Given the description of an element on the screen output the (x, y) to click on. 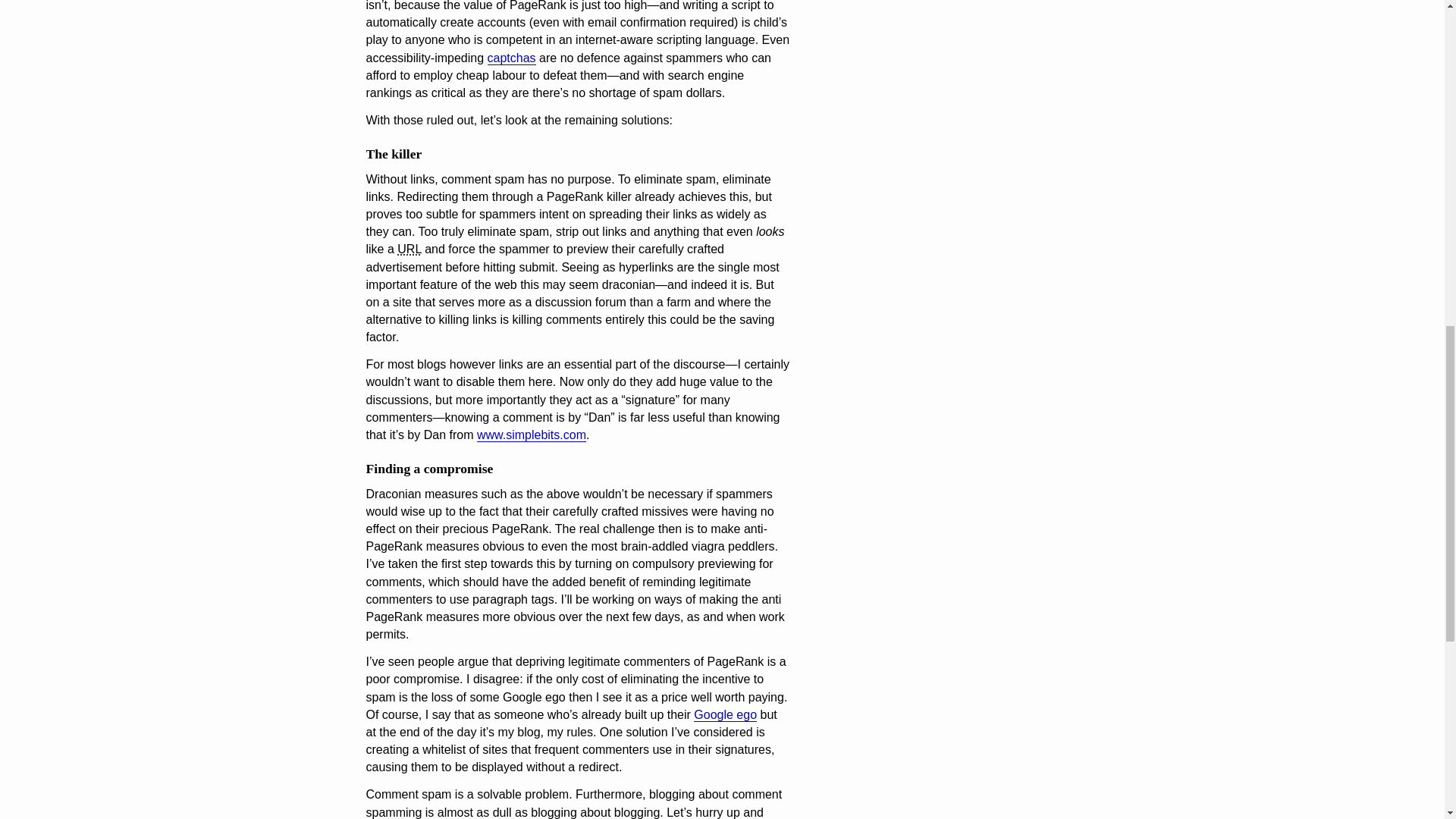
Universal Republic of Love (408, 248)
www.simplebits.com (531, 435)
captchas (511, 58)
Google ego (725, 714)
Number 5, baby! (725, 714)
